Given the description of an element on the screen output the (x, y) to click on. 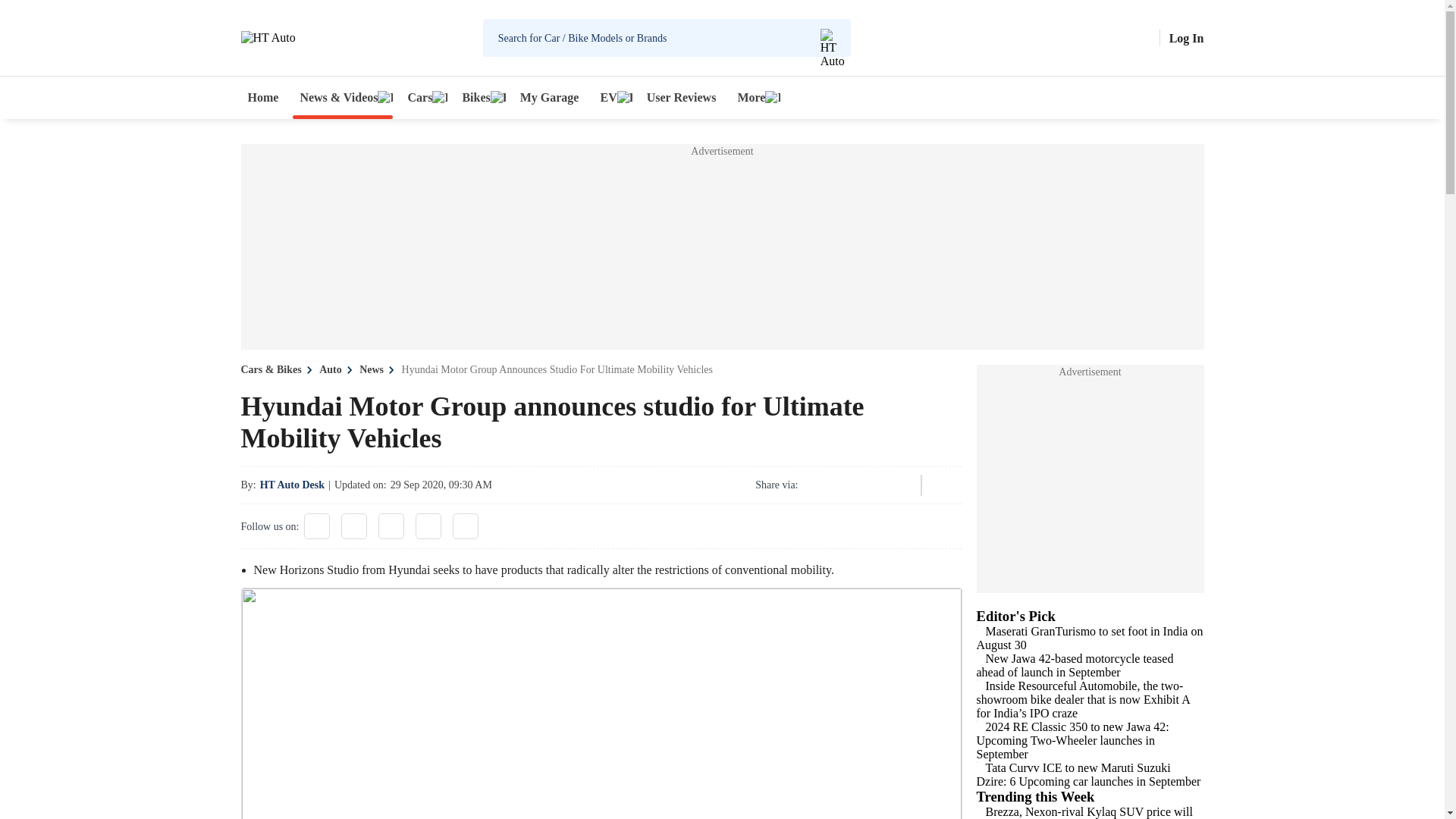
Cars (423, 97)
Facebook Share (816, 484)
Tweet (857, 484)
Home (263, 97)
Bikes (479, 97)
Log In (1186, 37)
EV (611, 97)
My Garage (549, 97)
